Given the description of an element on the screen output the (x, y) to click on. 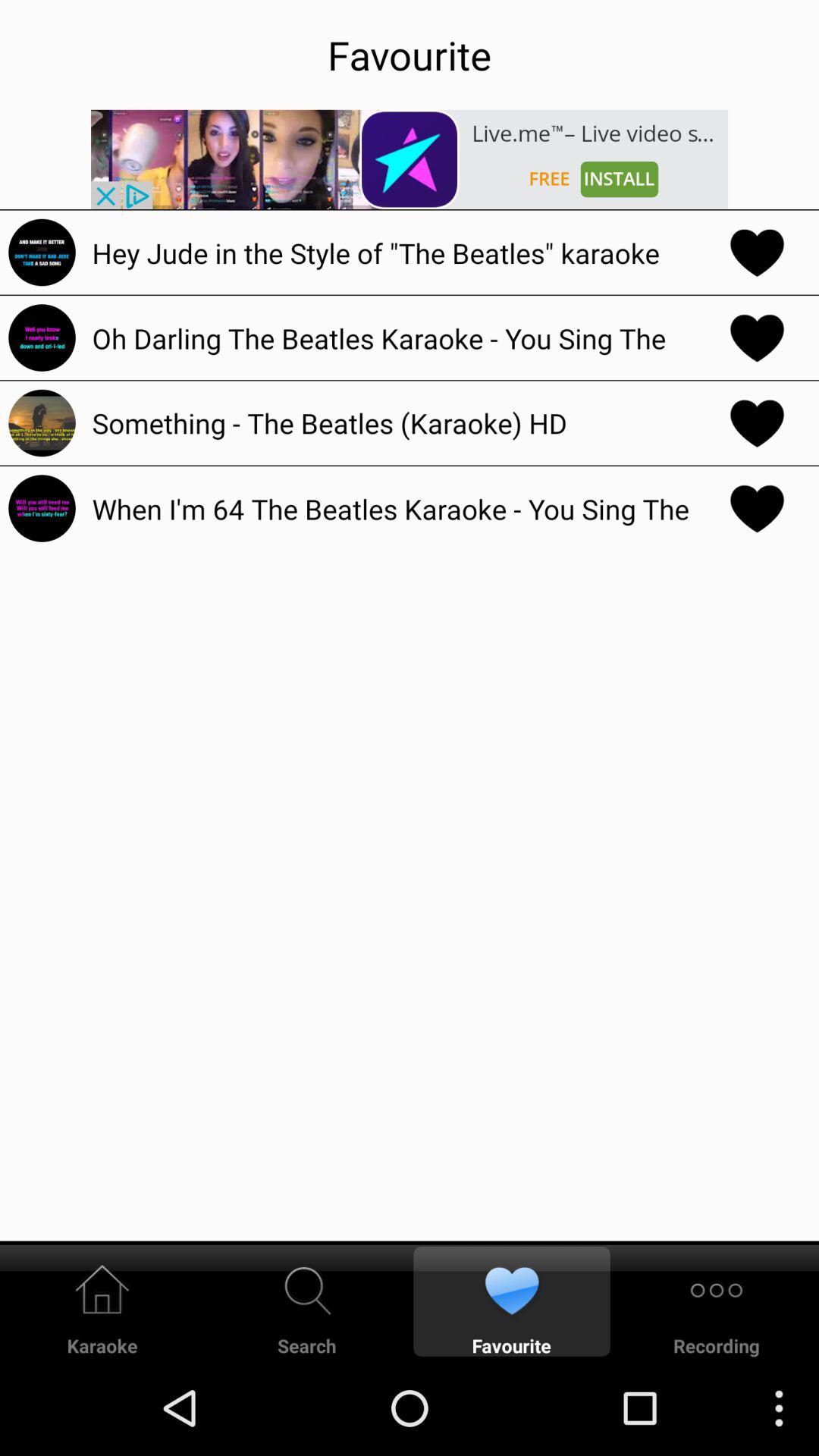
favourite app install (409, 159)
